Given the description of an element on the screen output the (x, y) to click on. 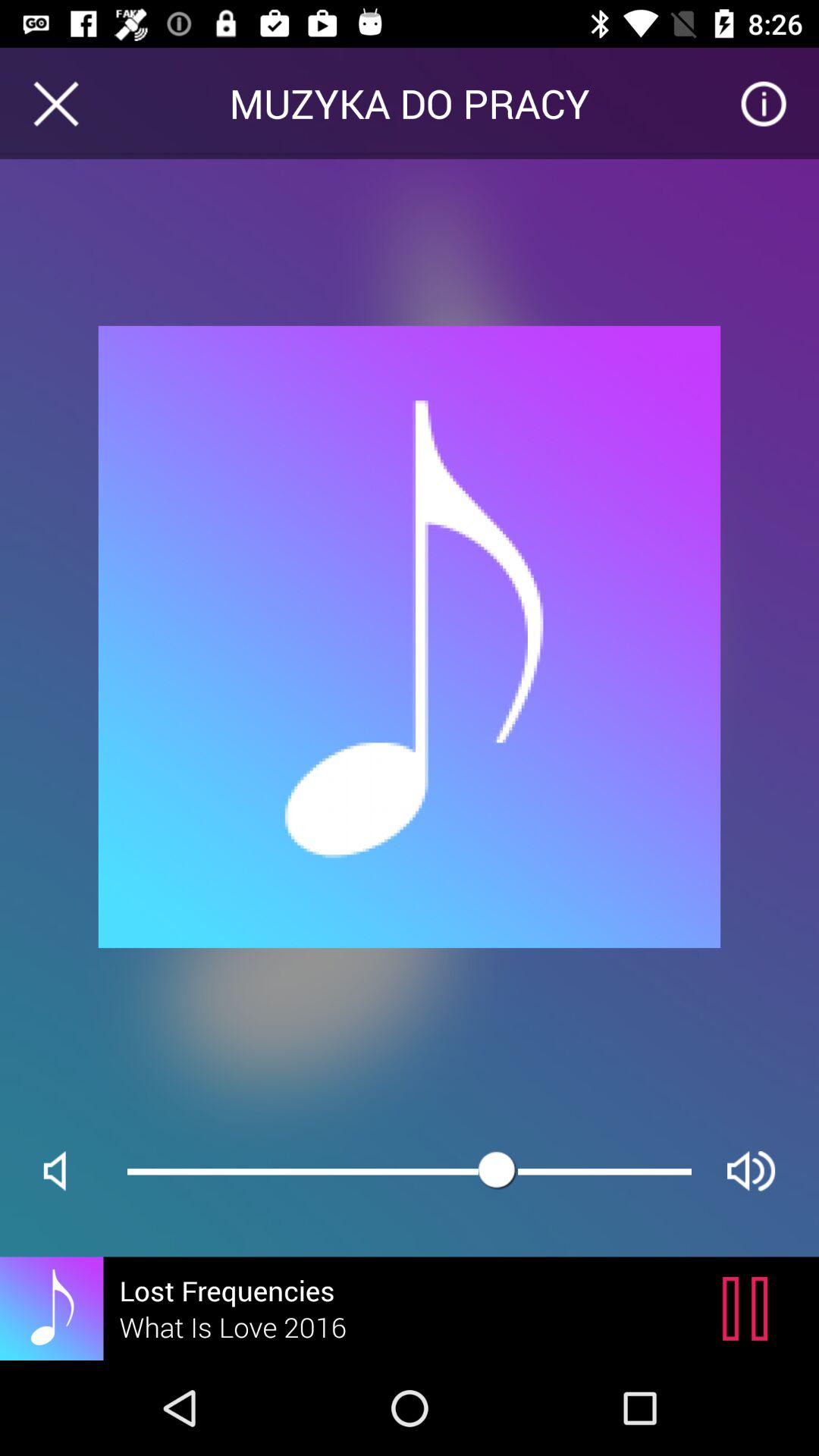
choose item next to the muzyka do pracy item (55, 103)
